Given the description of an element on the screen output the (x, y) to click on. 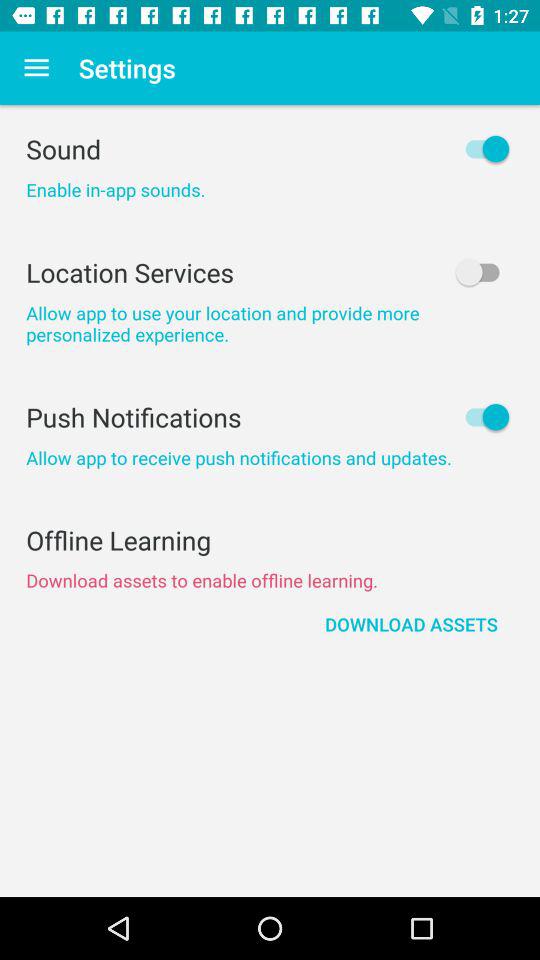
scroll to the location services icon (269, 272)
